Given the description of an element on the screen output the (x, y) to click on. 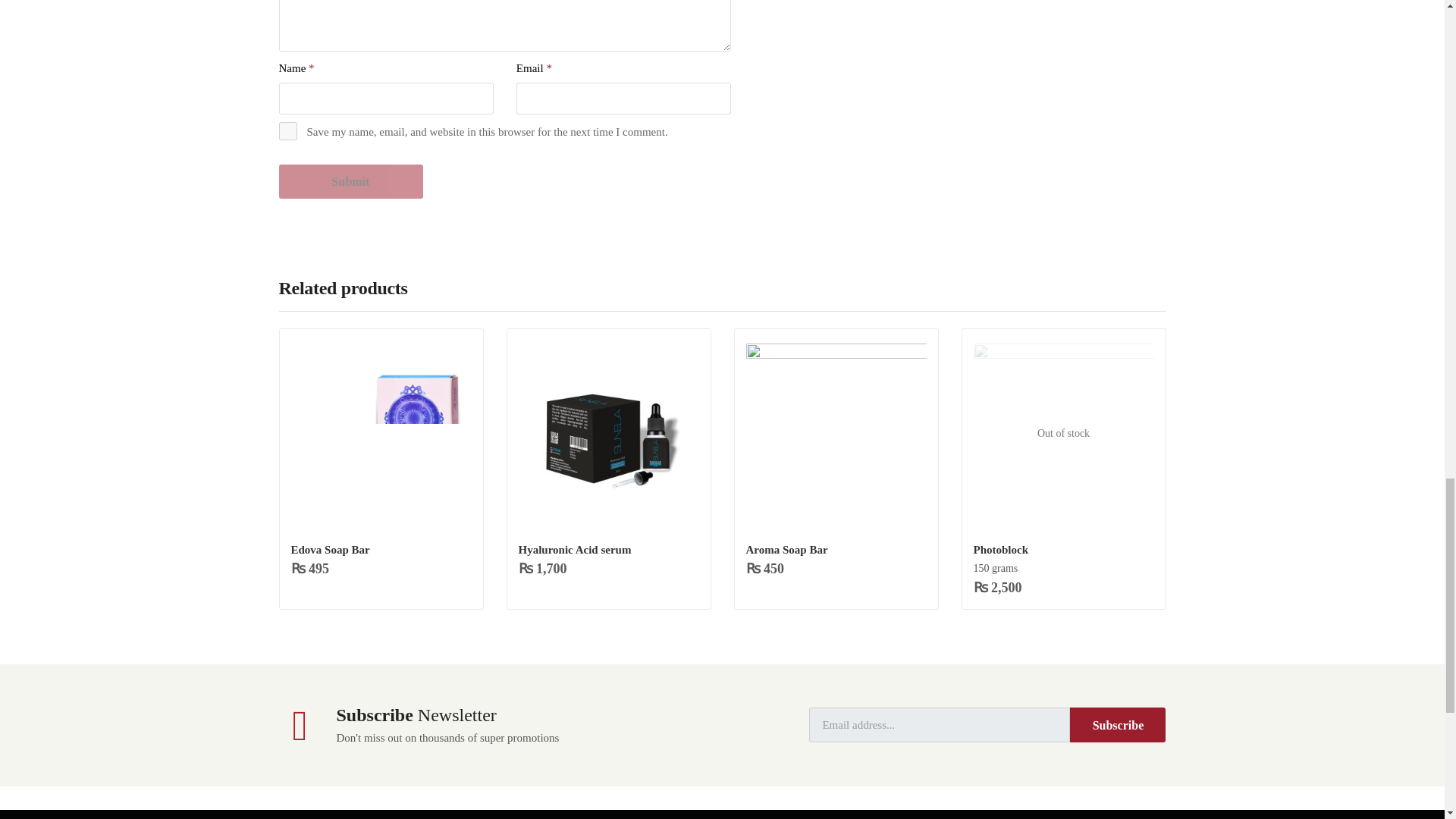
yes (288, 131)
Submit (351, 181)
Edova Soap Bar (381, 433)
